Given the description of an element on the screen output the (x, y) to click on. 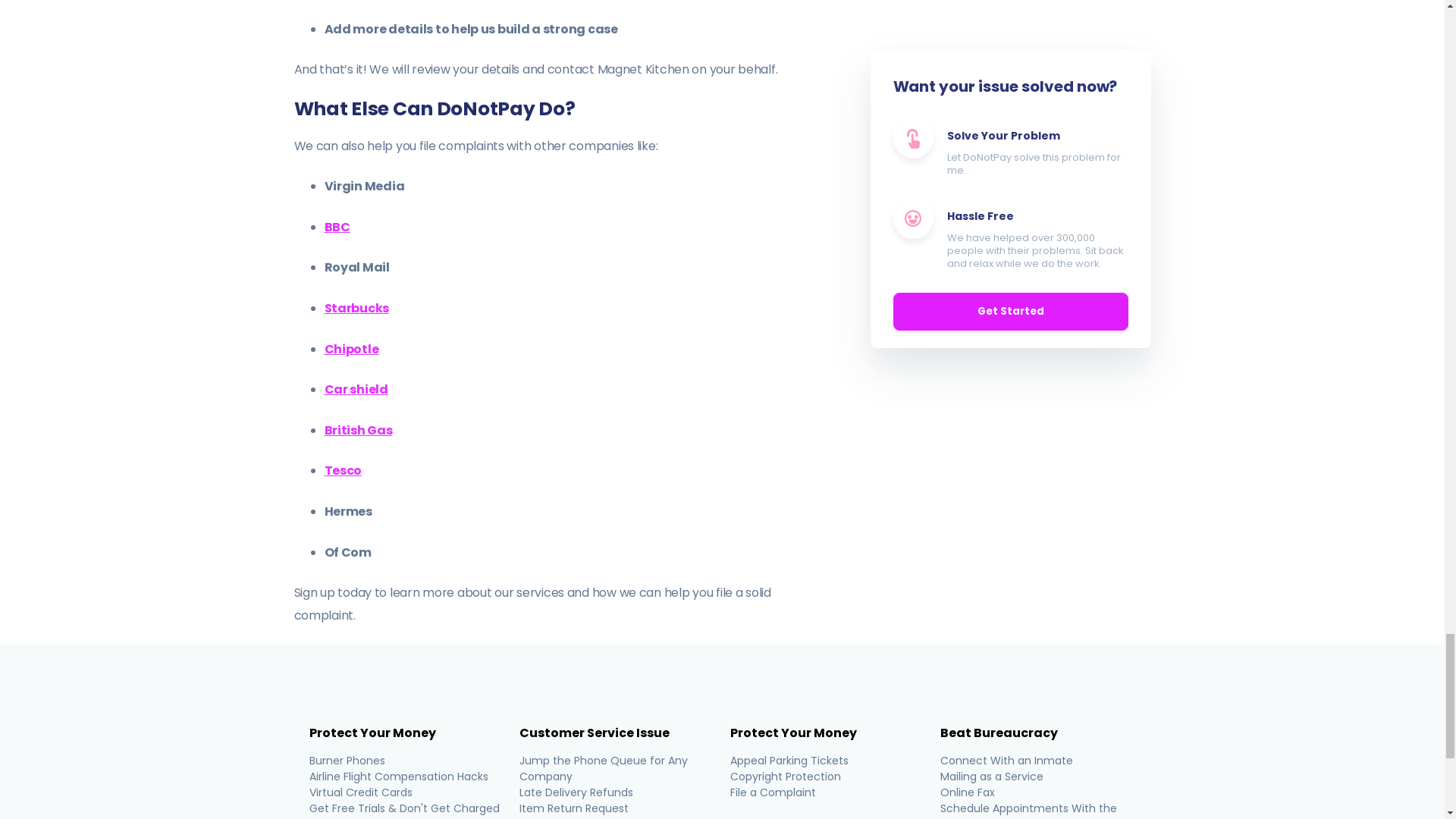
Starbucks (357, 307)
BBC (337, 226)
Car shield (356, 389)
Chipotle (351, 348)
